Given the description of an element on the screen output the (x, y) to click on. 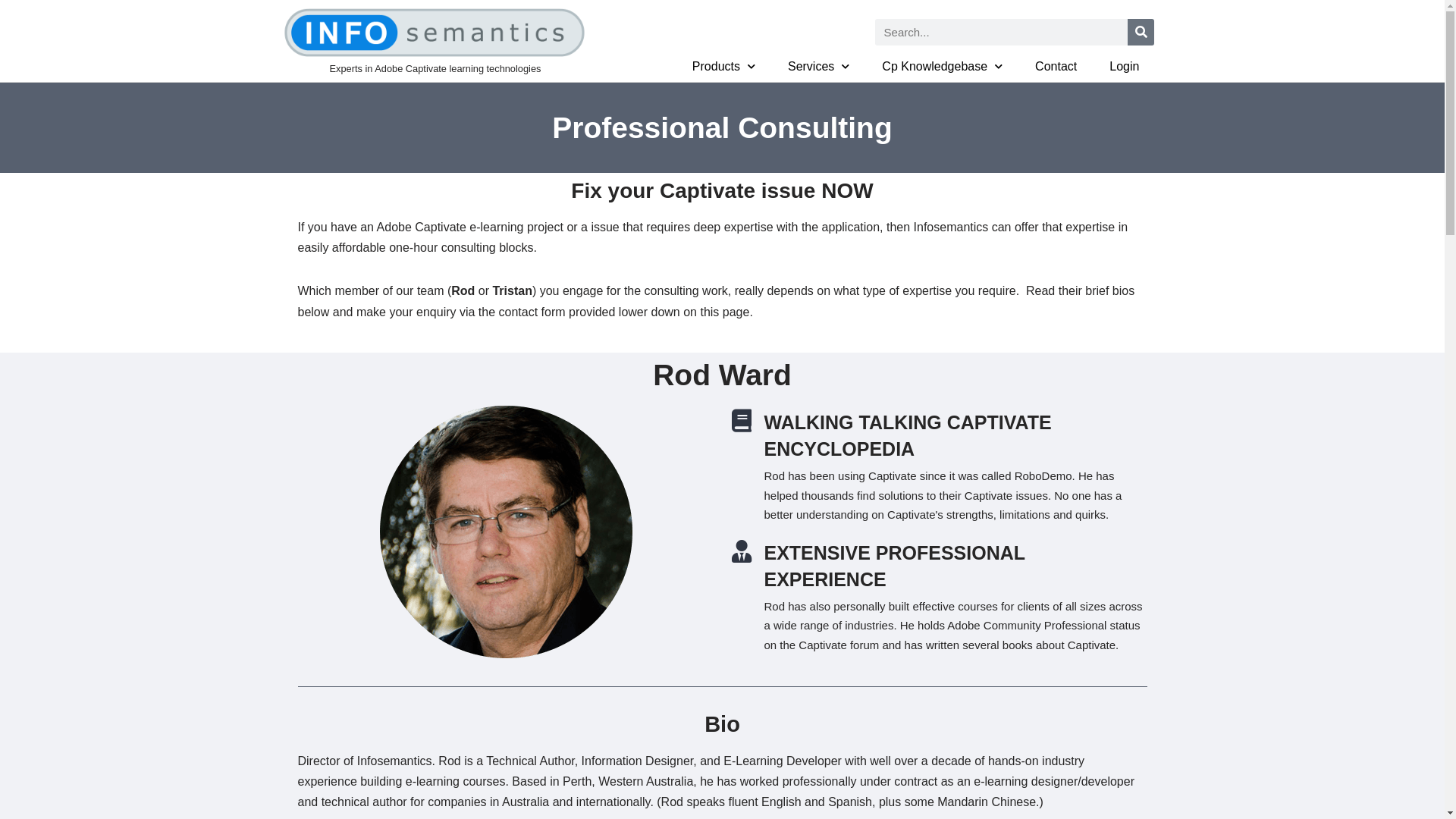
Infosemantics_Logo_1000px Element type: hover (433, 32)
Products Element type: text (723, 66)
Skip to content Element type: text (11, 31)
Cp Knowledgebase Element type: text (941, 66)
Contact Element type: text (1055, 66)
Services Element type: text (818, 66)
Login Element type: text (1124, 66)
